Given the description of an element on the screen output the (x, y) to click on. 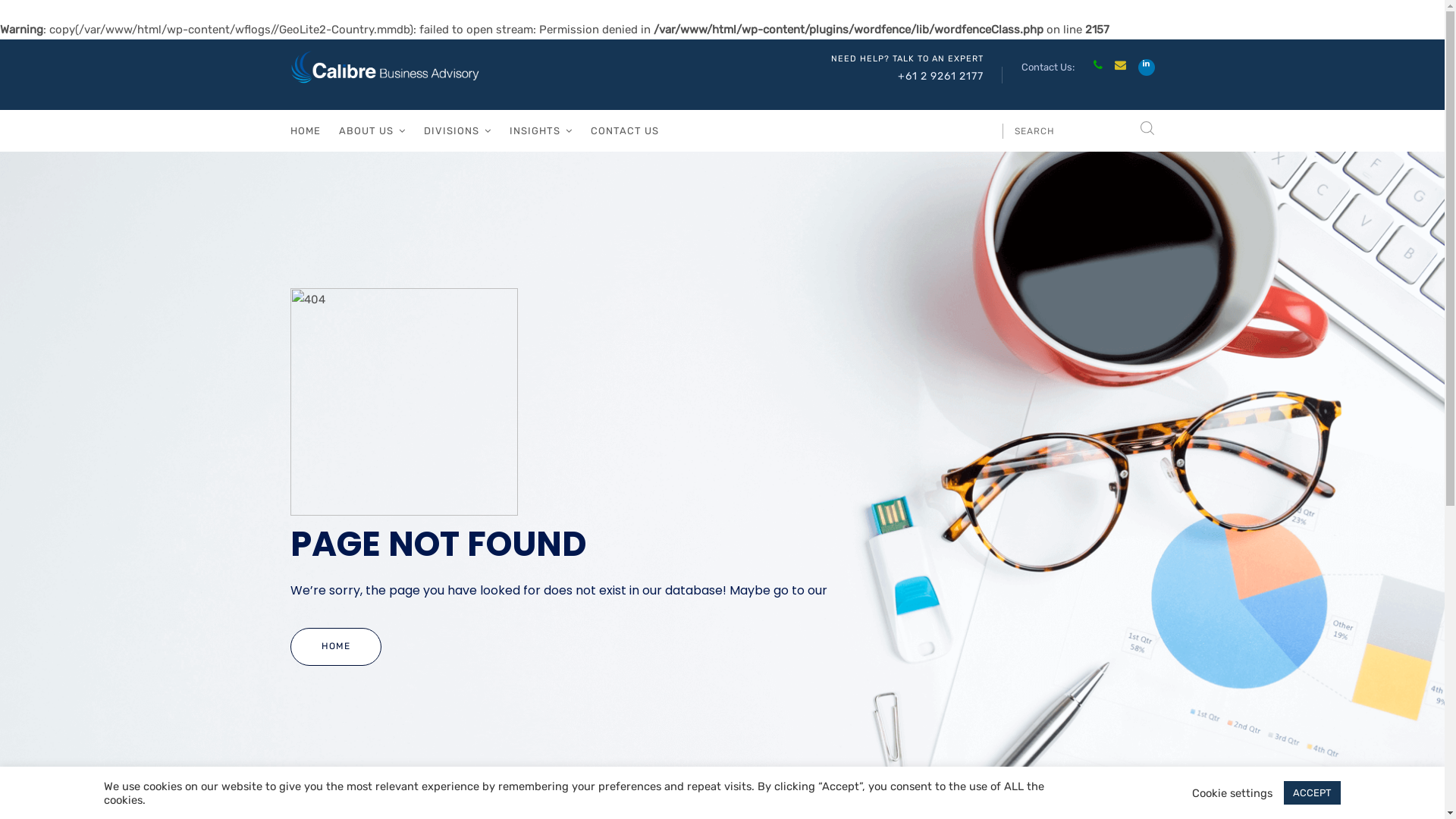
DIVISIONS Element type: text (456, 130)
+61 2 9261 2177 Element type: text (940, 75)
INSIGHTS Element type: text (540, 130)
ACCEPT Element type: text (1311, 792)
Cookie settings Element type: text (1232, 792)
ABOUT US Element type: text (371, 130)
CONTACT US Element type: text (623, 130)
HOME Element type: text (334, 646)
HOME Element type: text (304, 130)
